Given the description of an element on the screen output the (x, y) to click on. 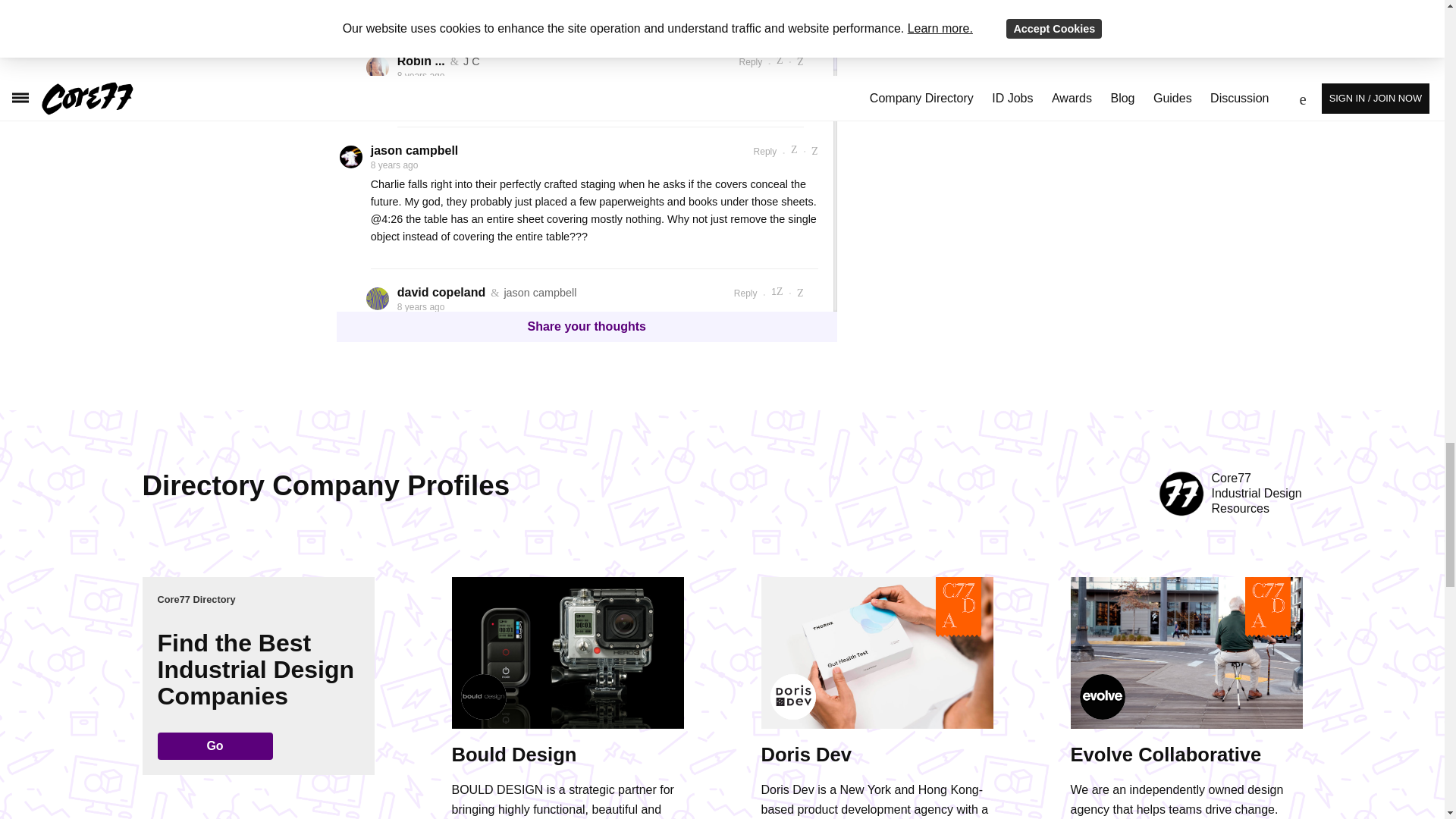
Robin ... (421, 60)
Protected by Grammarly (747, 777)
